Given the description of an element on the screen output the (x, y) to click on. 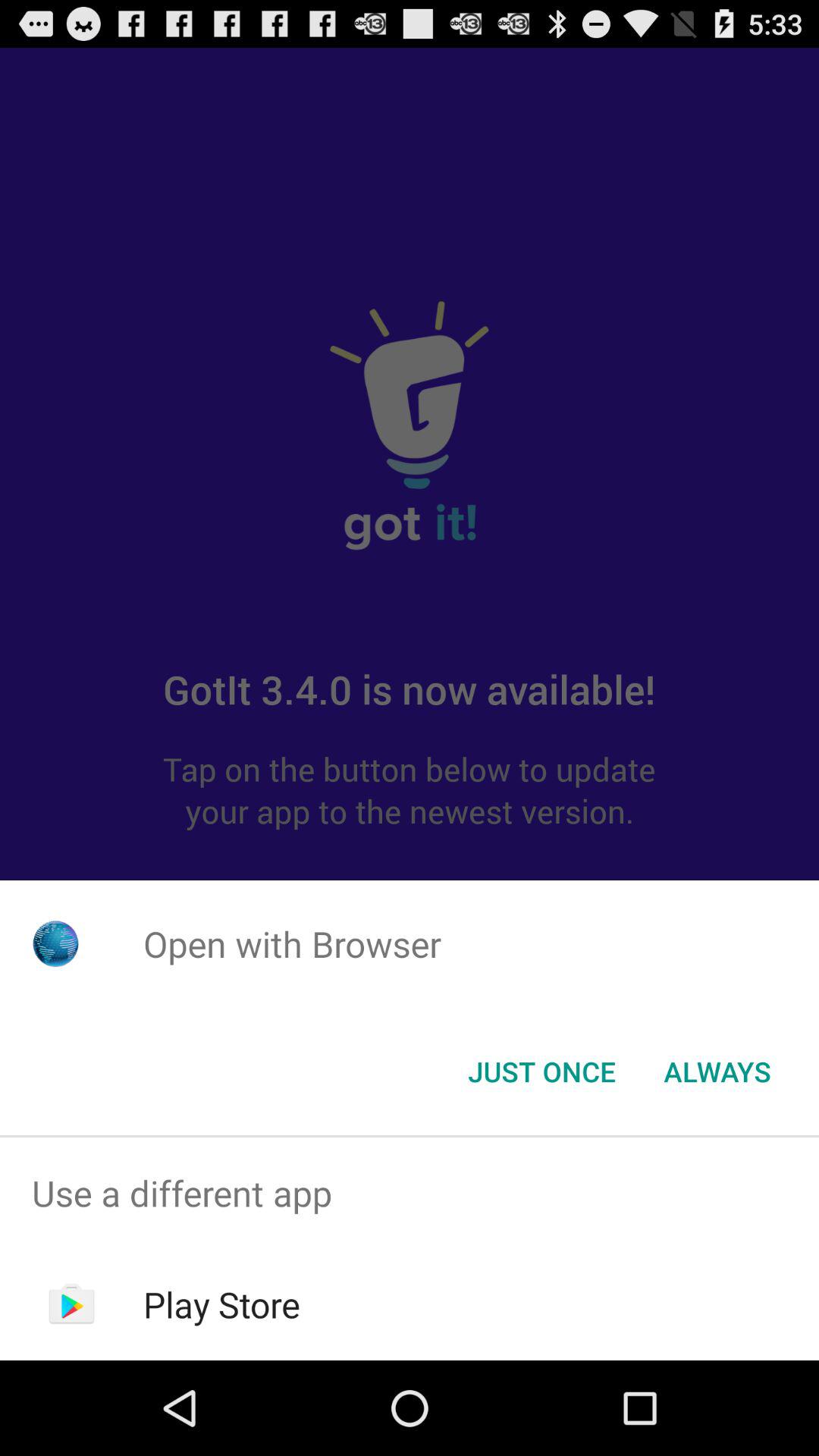
launch the item to the right of the just once button (717, 1071)
